Given the description of an element on the screen output the (x, y) to click on. 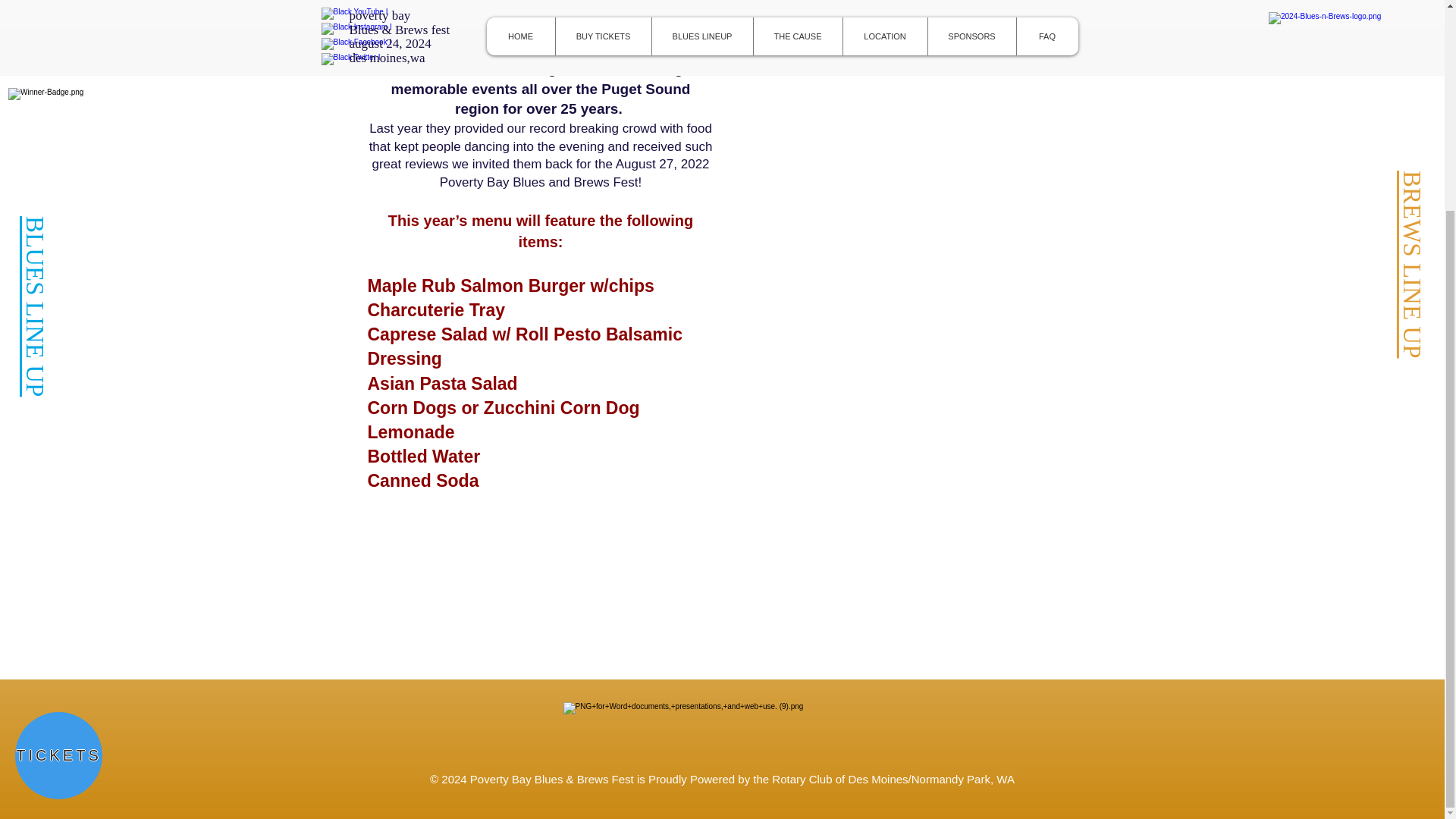
TICKETS (57, 481)
